Given the description of an element on the screen output the (x, y) to click on. 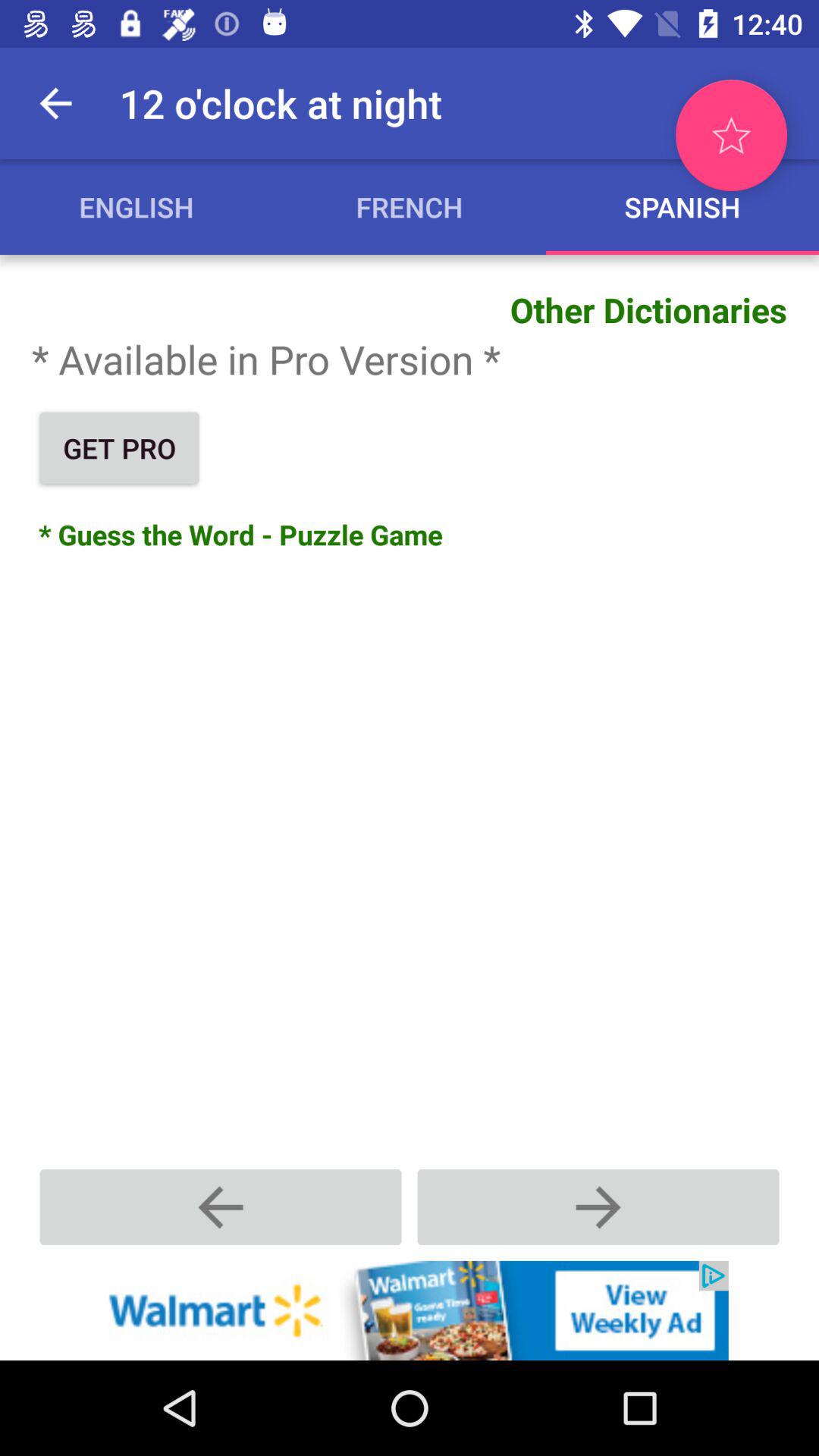
go to the next page (598, 1206)
